Given the description of an element on the screen output the (x, y) to click on. 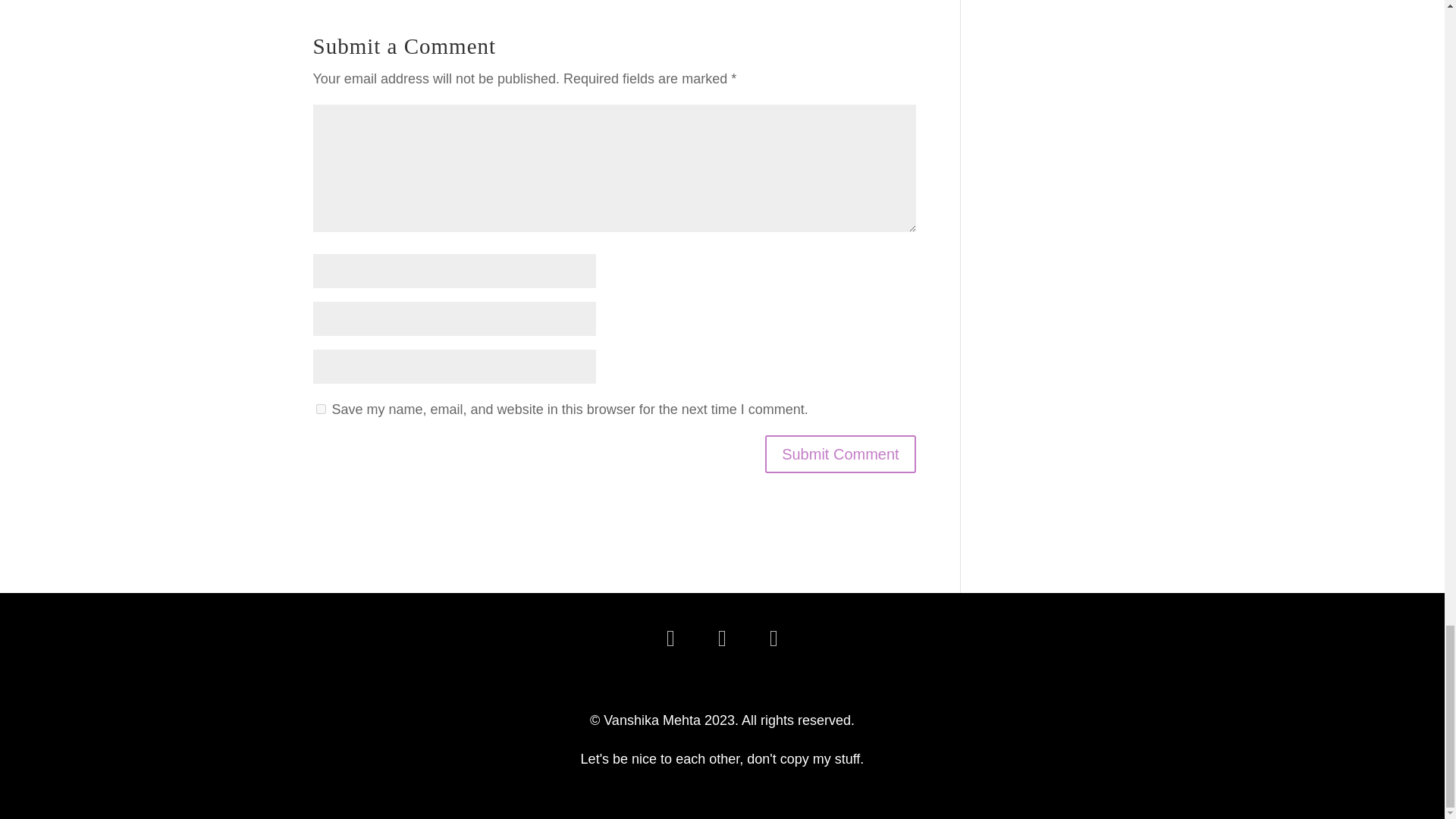
Submit Comment (840, 453)
yes (319, 409)
Follow on LinkedIn (670, 637)
Follow on Instagram (721, 637)
Submit Comment (840, 453)
Follow on Medium (773, 637)
